Given the description of an element on the screen output the (x, y) to click on. 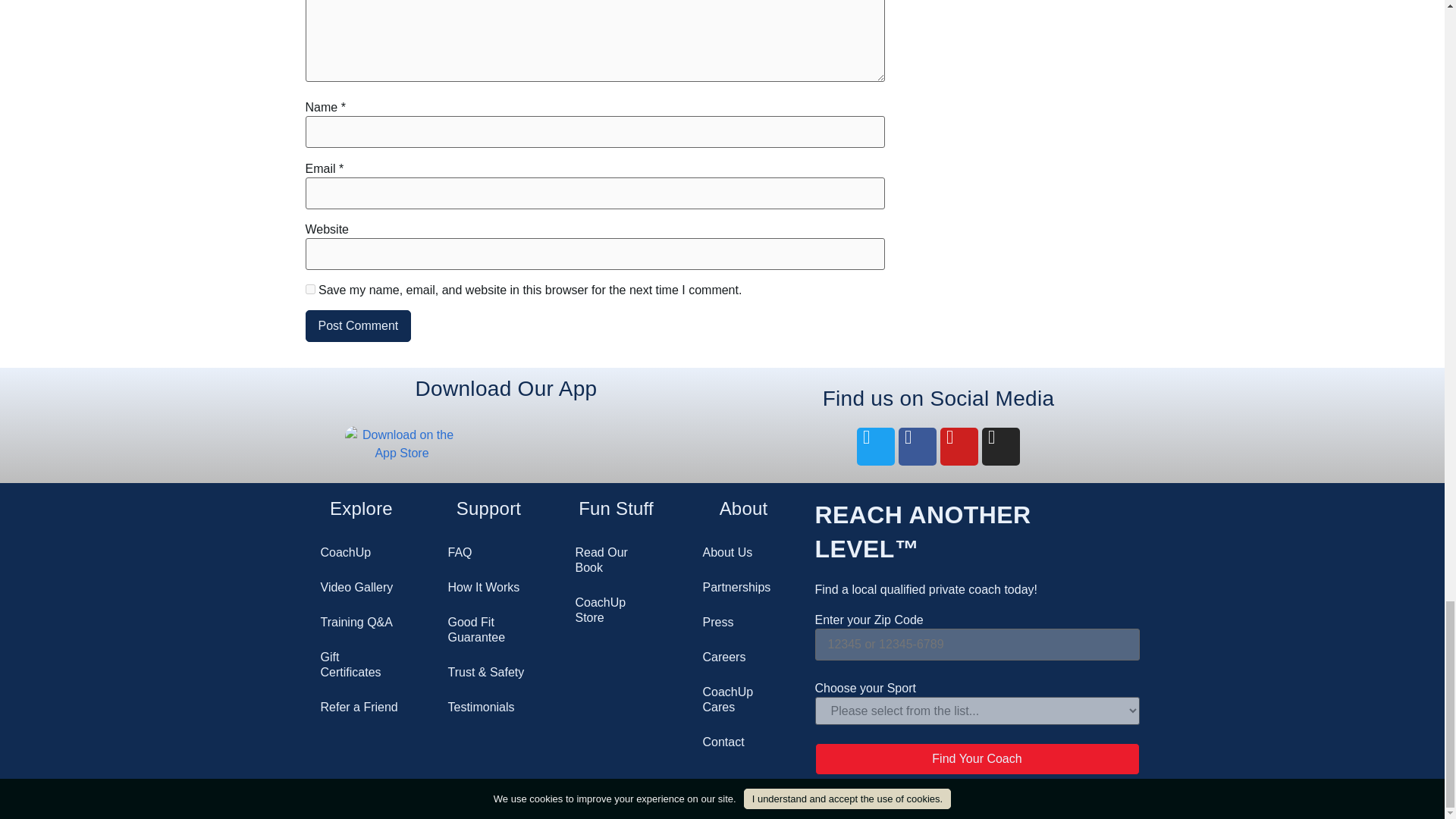
Post Comment (357, 326)
Find Your Coach (975, 758)
yes (309, 289)
